Given the description of an element on the screen output the (x, y) to click on. 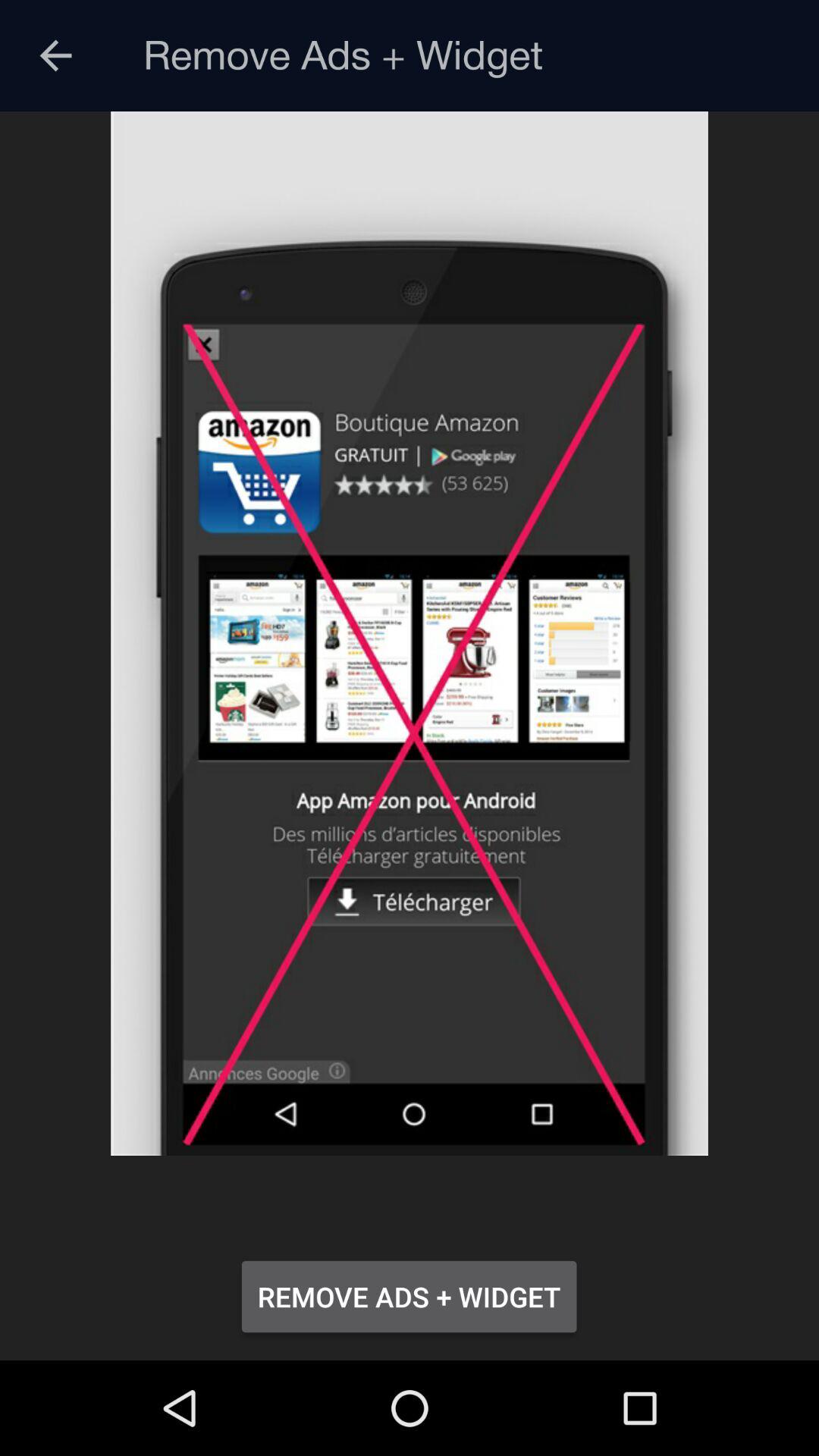
choose icon at the top left corner (55, 55)
